Given the description of an element on the screen output the (x, y) to click on. 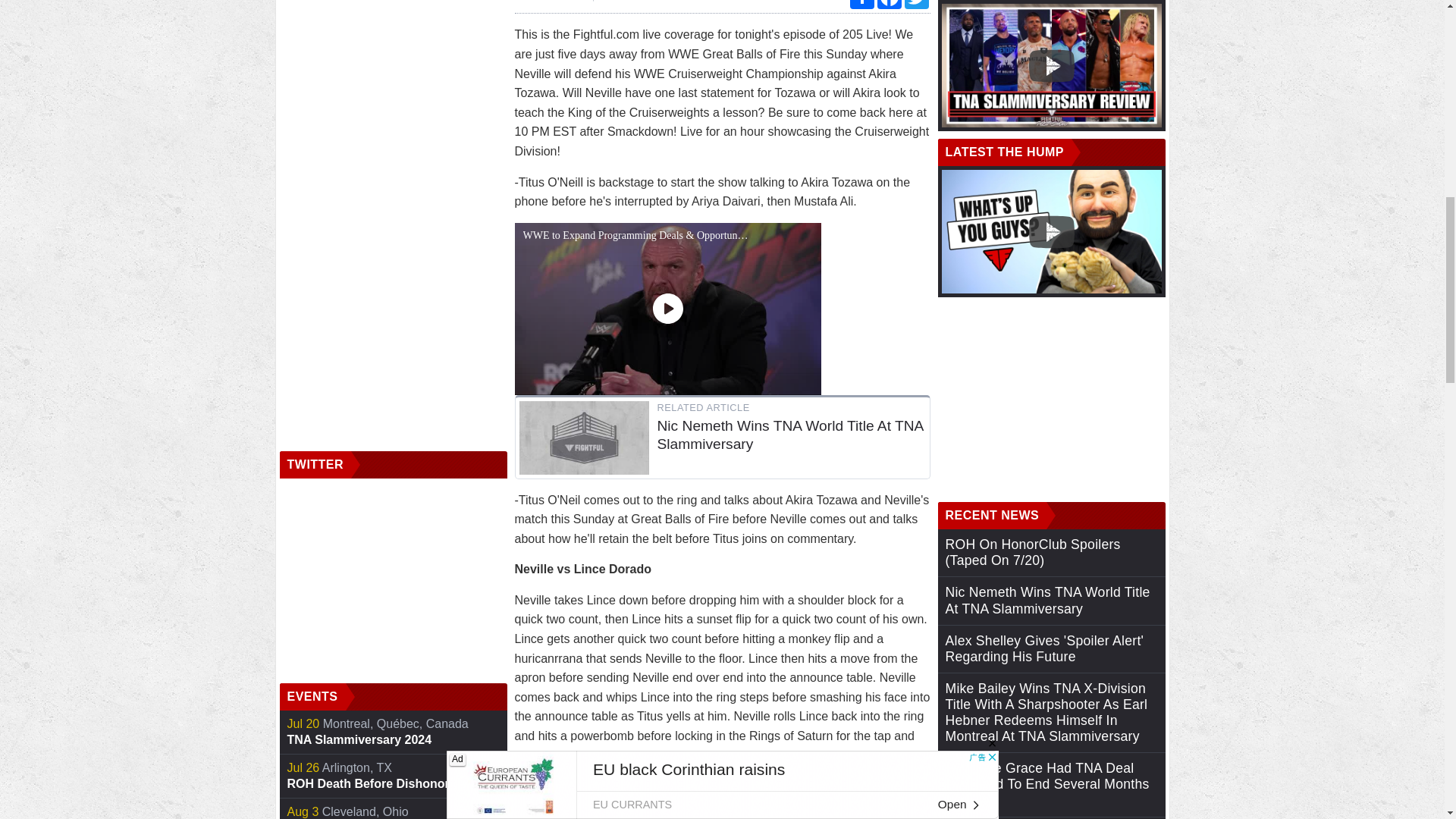
Primis Frame (392, 776)
